Given the description of an element on the screen output the (x, y) to click on. 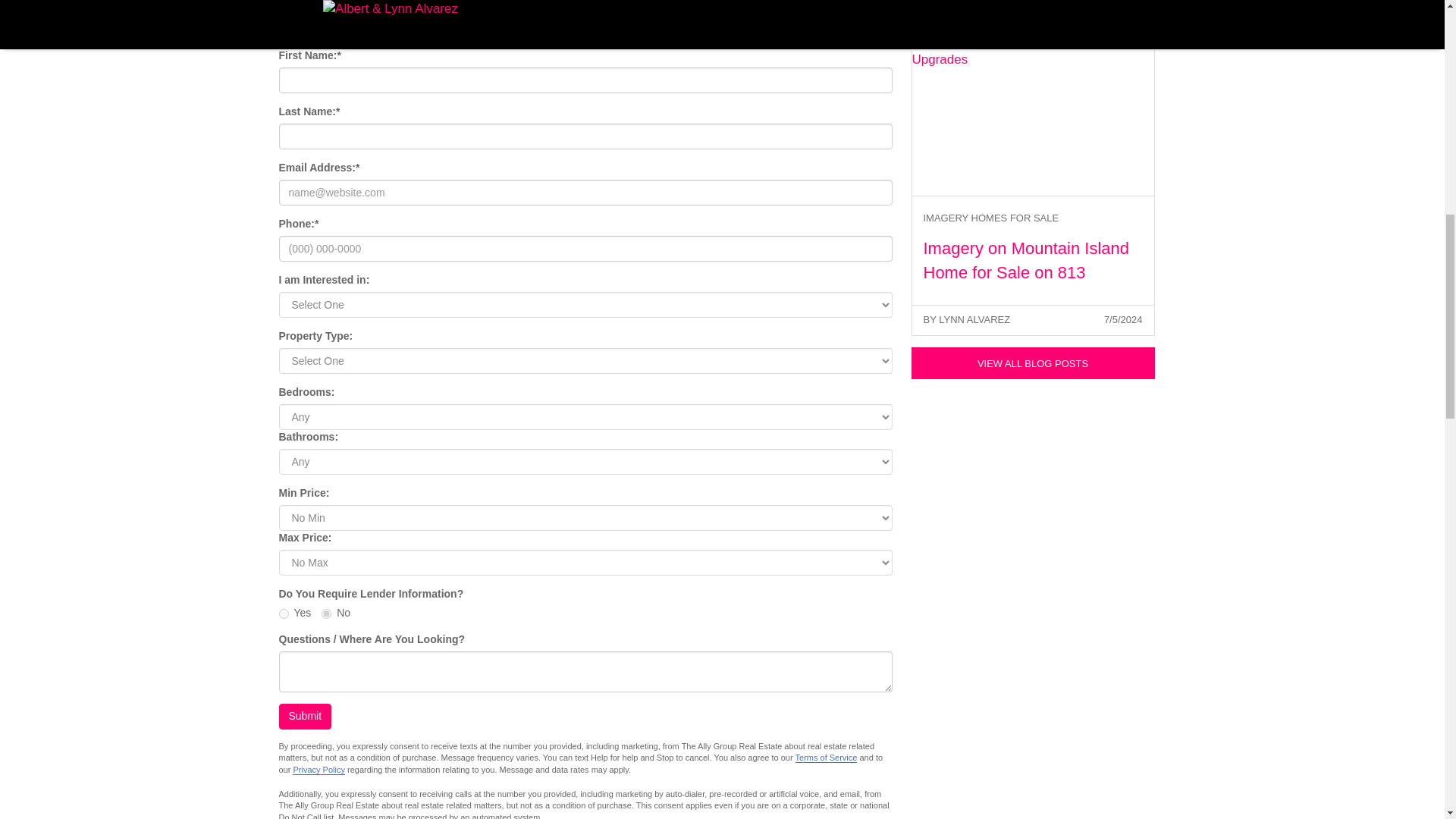
Yes (283, 614)
No (326, 614)
